Given the description of an element on the screen output the (x, y) to click on. 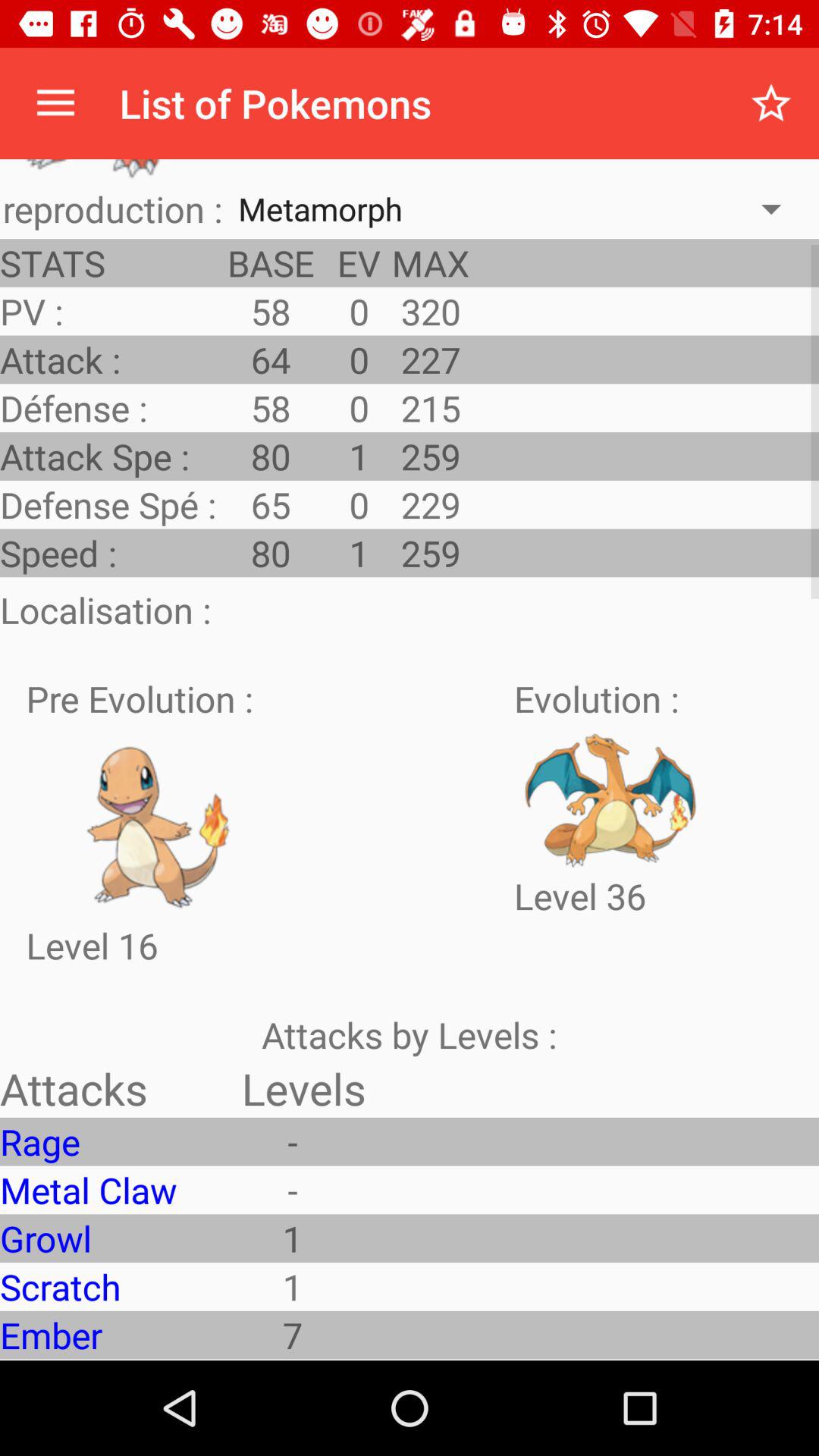
go to pre evolution (160, 821)
